Given the description of an element on the screen output the (x, y) to click on. 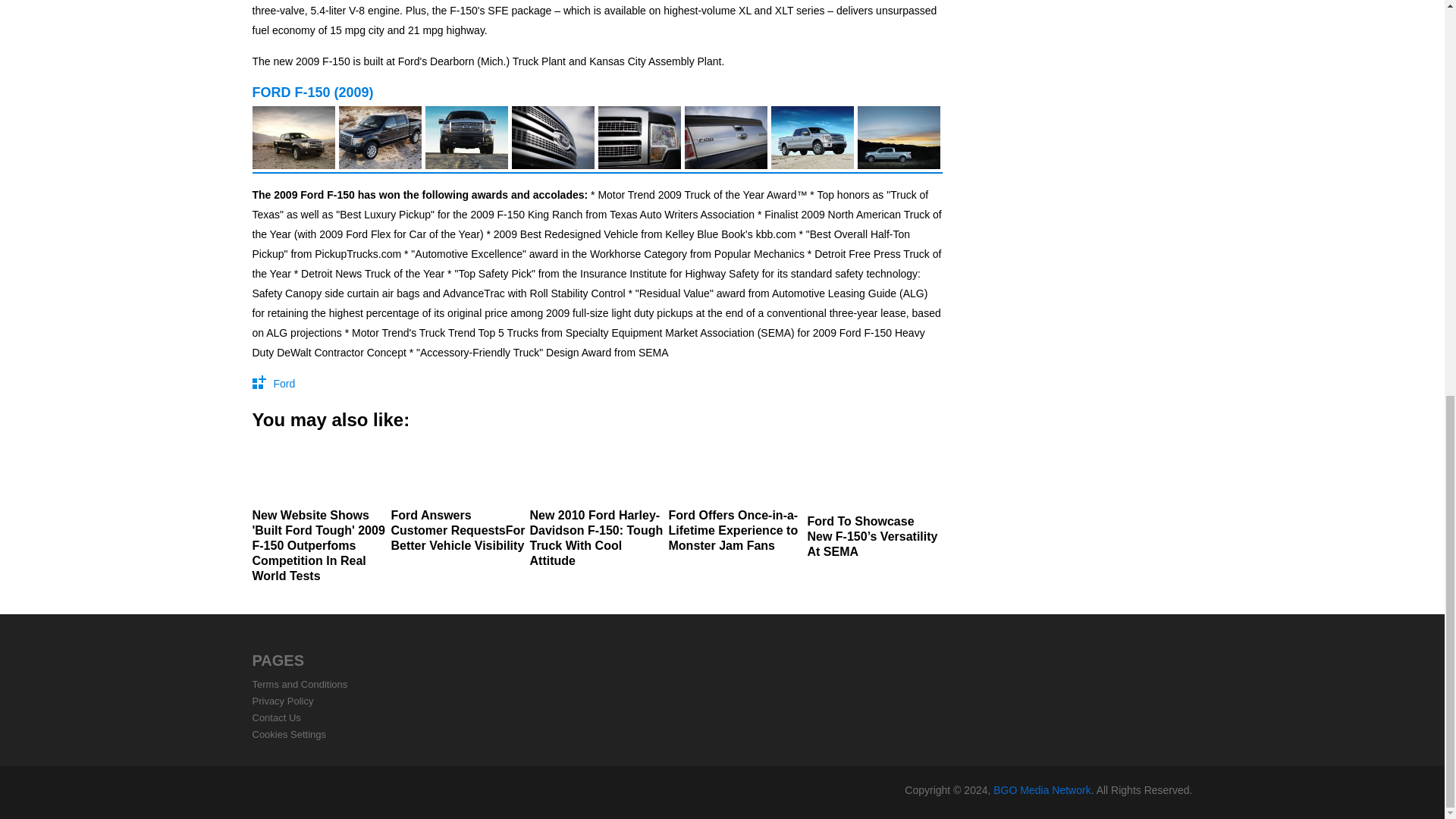
Privacy Policy (282, 700)
Terms and Conditions (299, 684)
Contact Us (275, 717)
Terms and Conditions (299, 684)
Ford Answers Customer RequestsFor Better Vehicle Visibility (458, 498)
Ford (284, 383)
Privacy Policy (282, 700)
Contact Us (275, 717)
